Given the description of an element on the screen output the (x, y) to click on. 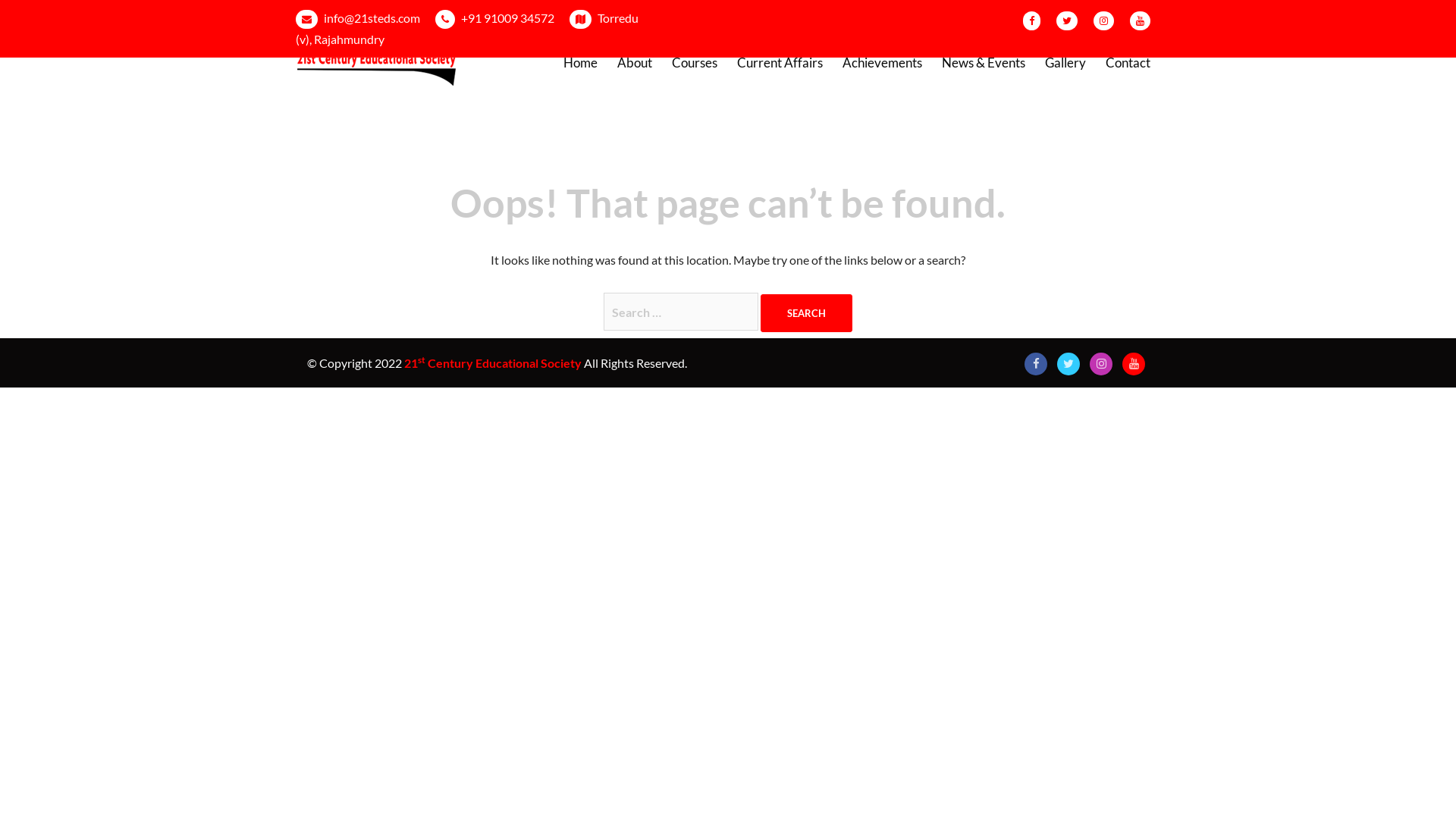
Contact Element type: text (1127, 63)
News & Events Element type: text (983, 63)
Achievements Element type: text (881, 63)
Home Element type: text (580, 63)
+91 91009 34572 Element type: text (507, 17)
Current Affairs Element type: text (779, 63)
About Element type: text (634, 63)
Search Element type: text (806, 313)
21st Century Educational Society Element type: hover (379, 60)
info@21steds.com Element type: text (371, 17)
Gallery Element type: text (1065, 63)
Courses Element type: text (694, 63)
